Given the description of an element on the screen output the (x, y) to click on. 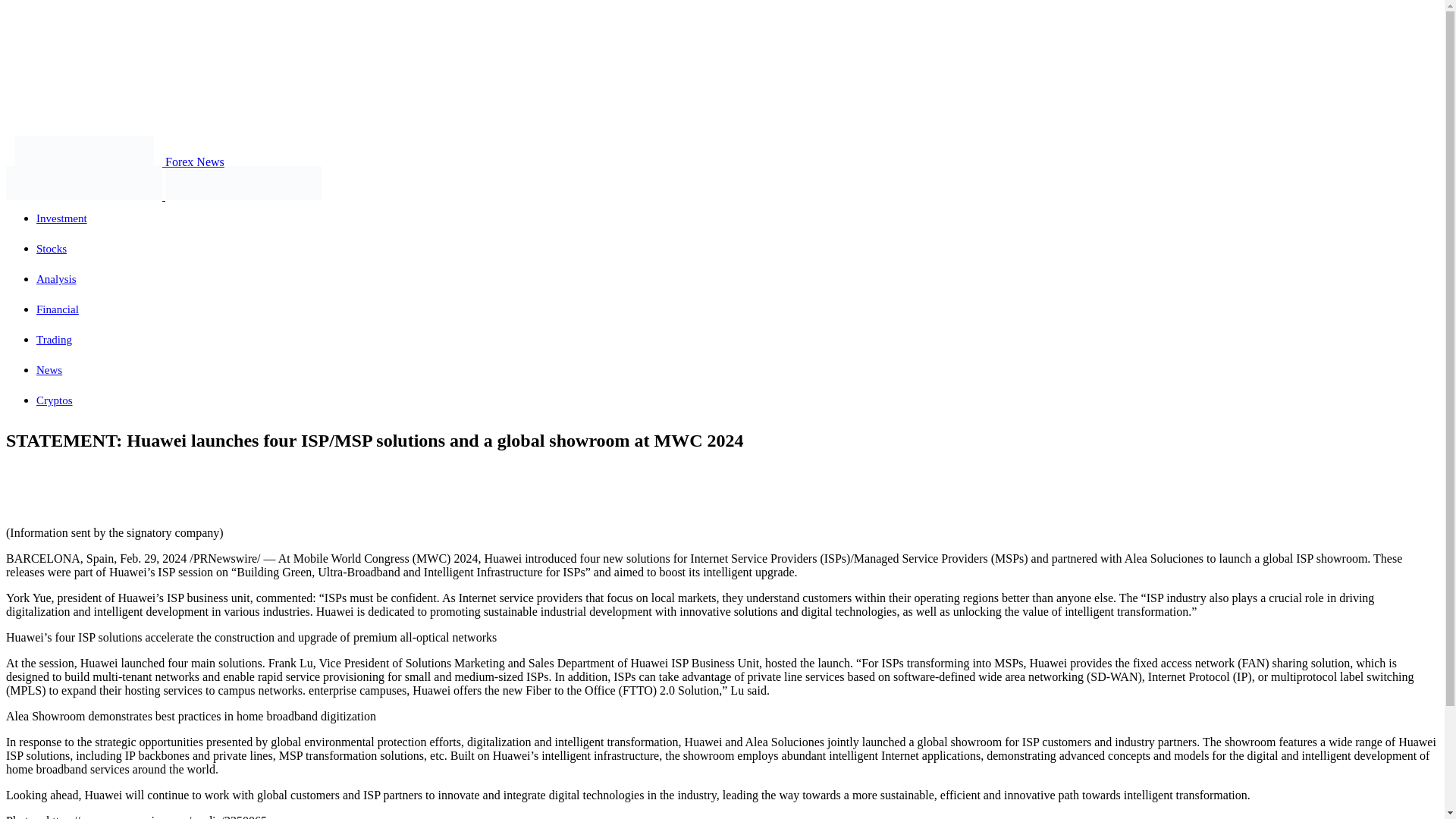
Stocks (51, 248)
Forex News (114, 161)
Trading (53, 339)
Financial (57, 309)
Investment (61, 218)
News (49, 369)
Cryptos (54, 399)
Analysis (56, 278)
